Given the description of an element on the screen output the (x, y) to click on. 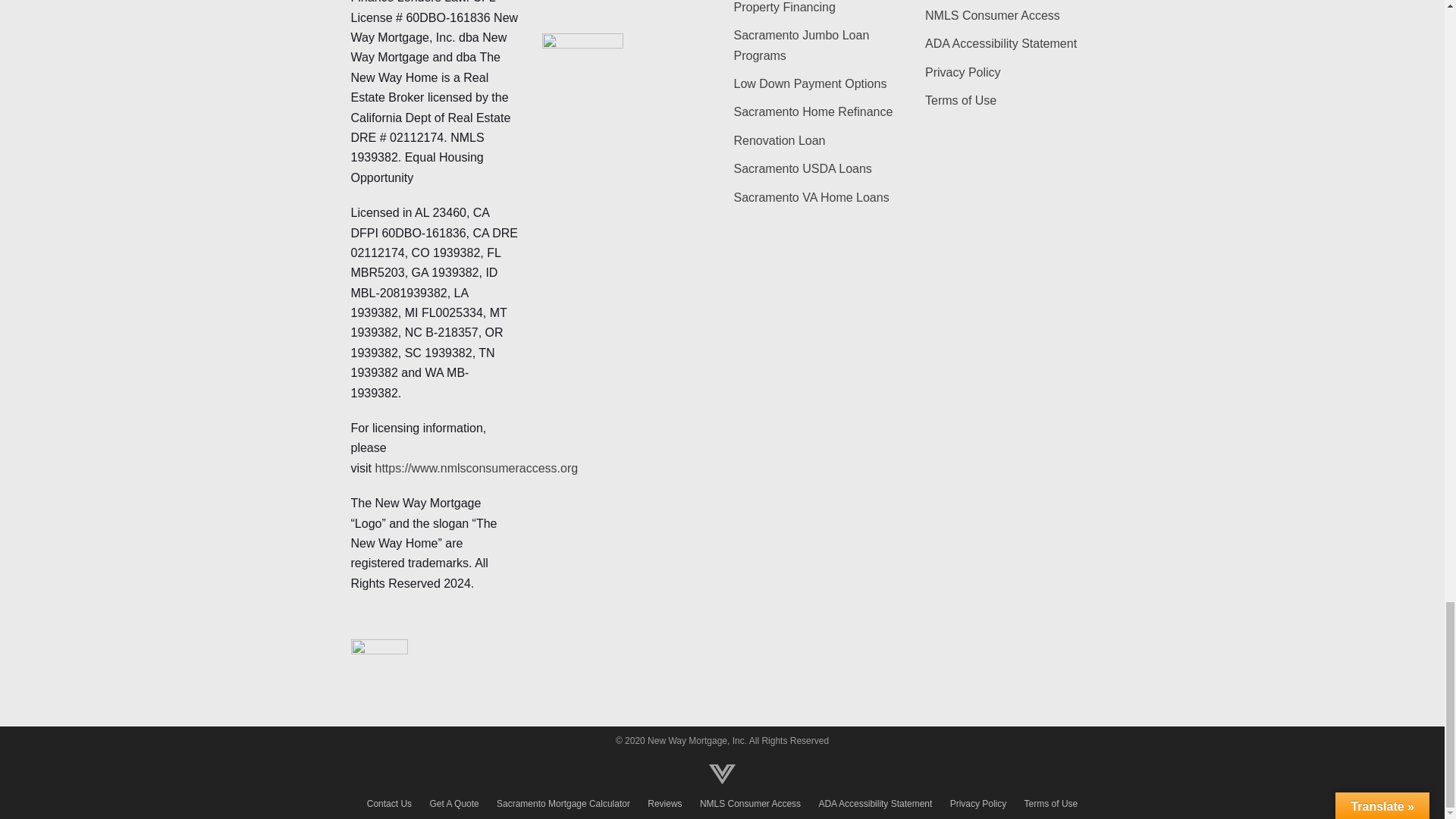
Contact Us (389, 803)
NMLS Consumer Access (991, 15)
